Given the description of an element on the screen output the (x, y) to click on. 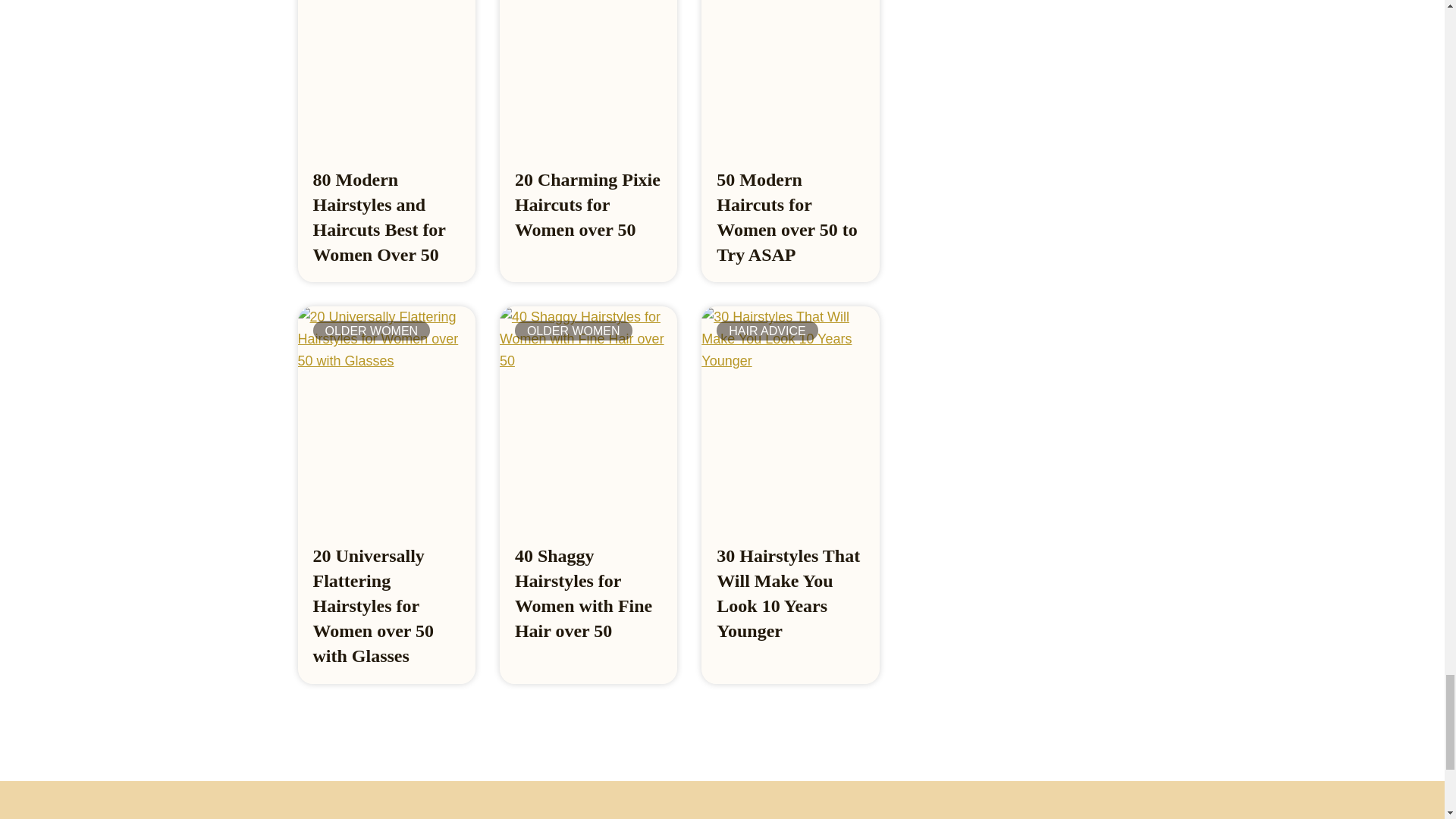
50 Modern Haircuts for Women over 50 to Try ASAP (786, 216)
30 Hairstyles That Will Make You Look 10 Years Younger (788, 593)
20 Charming Pixie Haircuts for Women over 50 (588, 74)
Older Women (573, 330)
20 Charming Pixie Haircuts for Women over 50 (588, 204)
50 Modern Haircuts for Women over 50 to Try ASAP (790, 74)
Older Women (371, 330)
Hair Advice (766, 330)
80 Modern Hairstyles and Haircuts Best for Women Over 50 (379, 216)
